Given the description of an element on the screen output the (x, y) to click on. 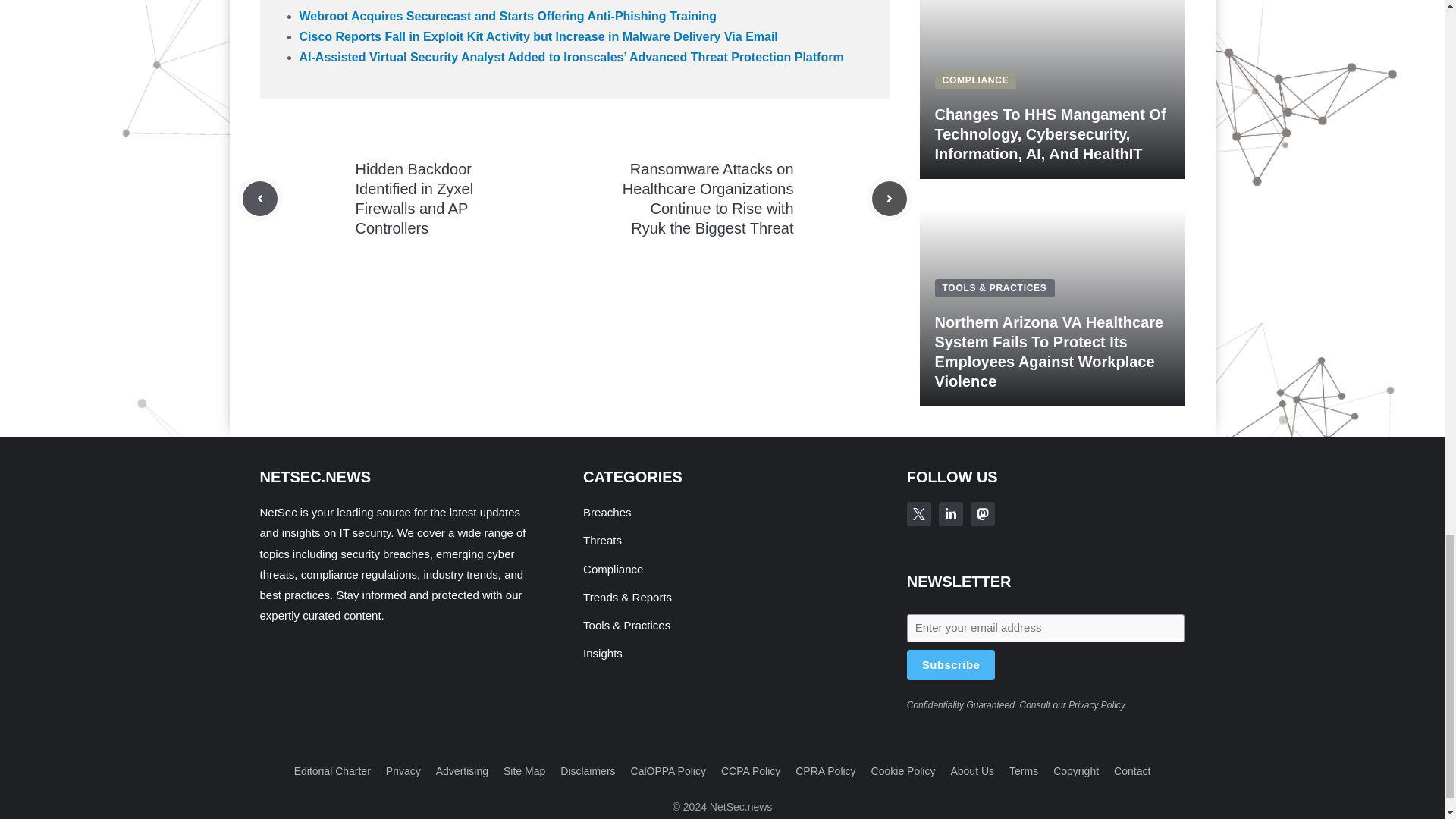
Subscribe (951, 665)
Breaches (606, 512)
COMPLIANCE (975, 80)
